Given the description of an element on the screen output the (x, y) to click on. 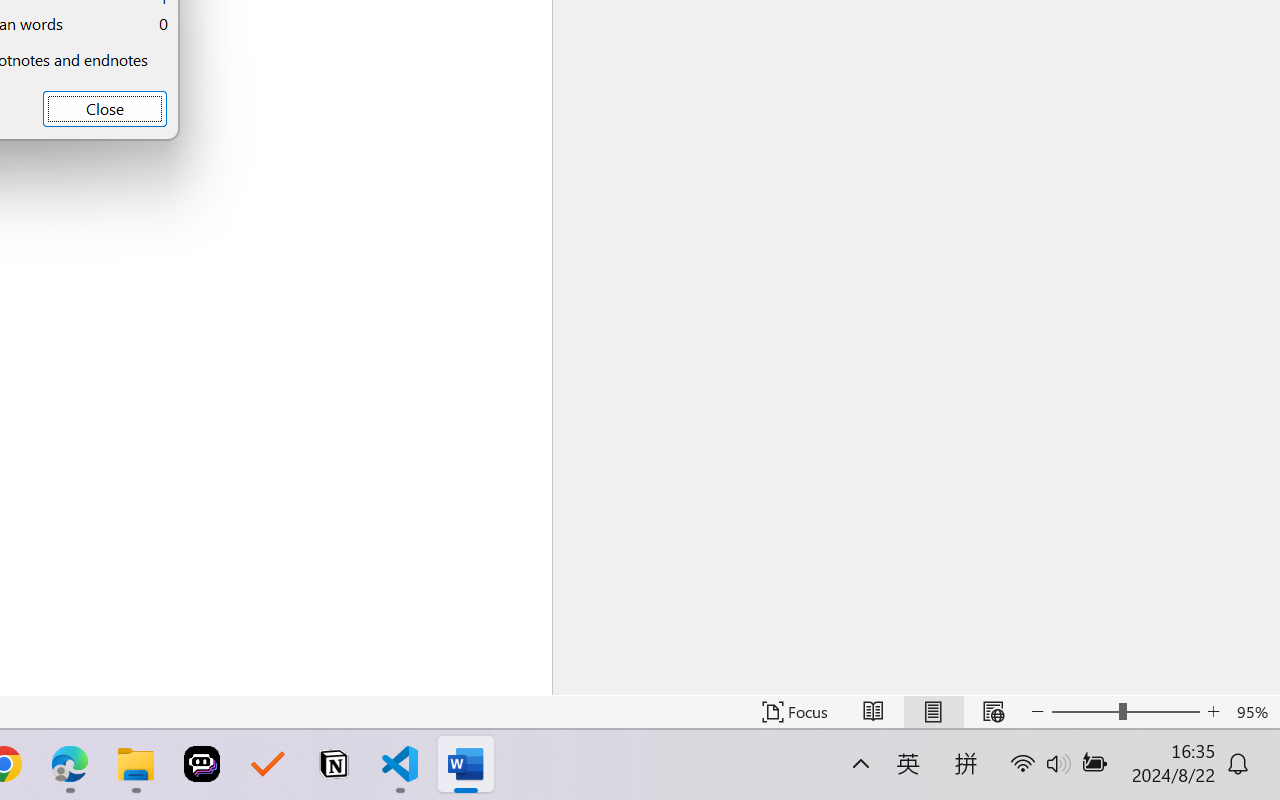
Notion (333, 764)
Poe (201, 764)
Zoom 95% (1253, 712)
